Given the description of an element on the screen output the (x, y) to click on. 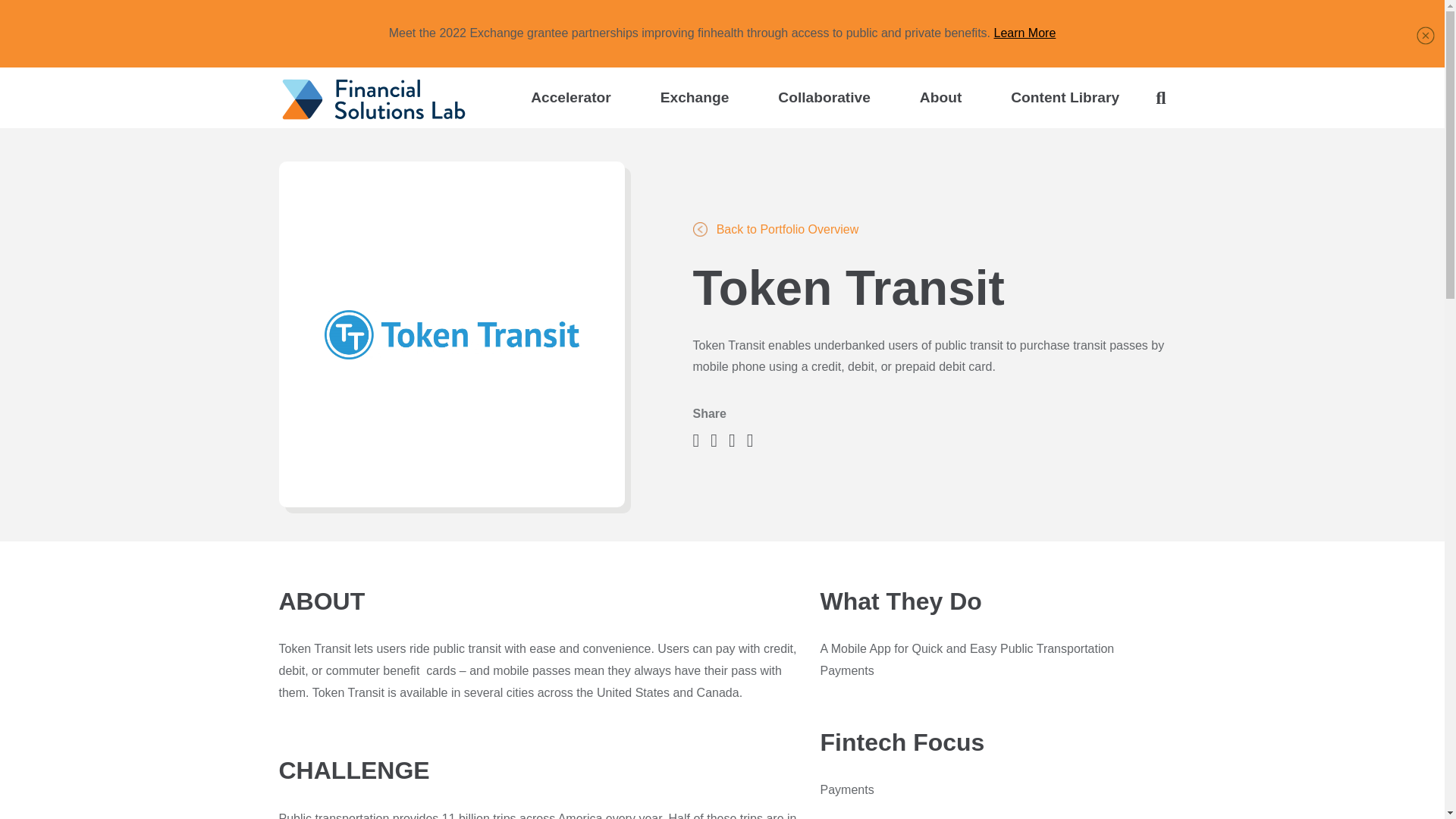
Back to Portfolio Overview (776, 228)
Exchange (695, 96)
Content Library (1065, 96)
Learn More (1023, 32)
About (940, 96)
Accelerator (570, 96)
Collaborative (824, 96)
